Given the description of an element on the screen output the (x, y) to click on. 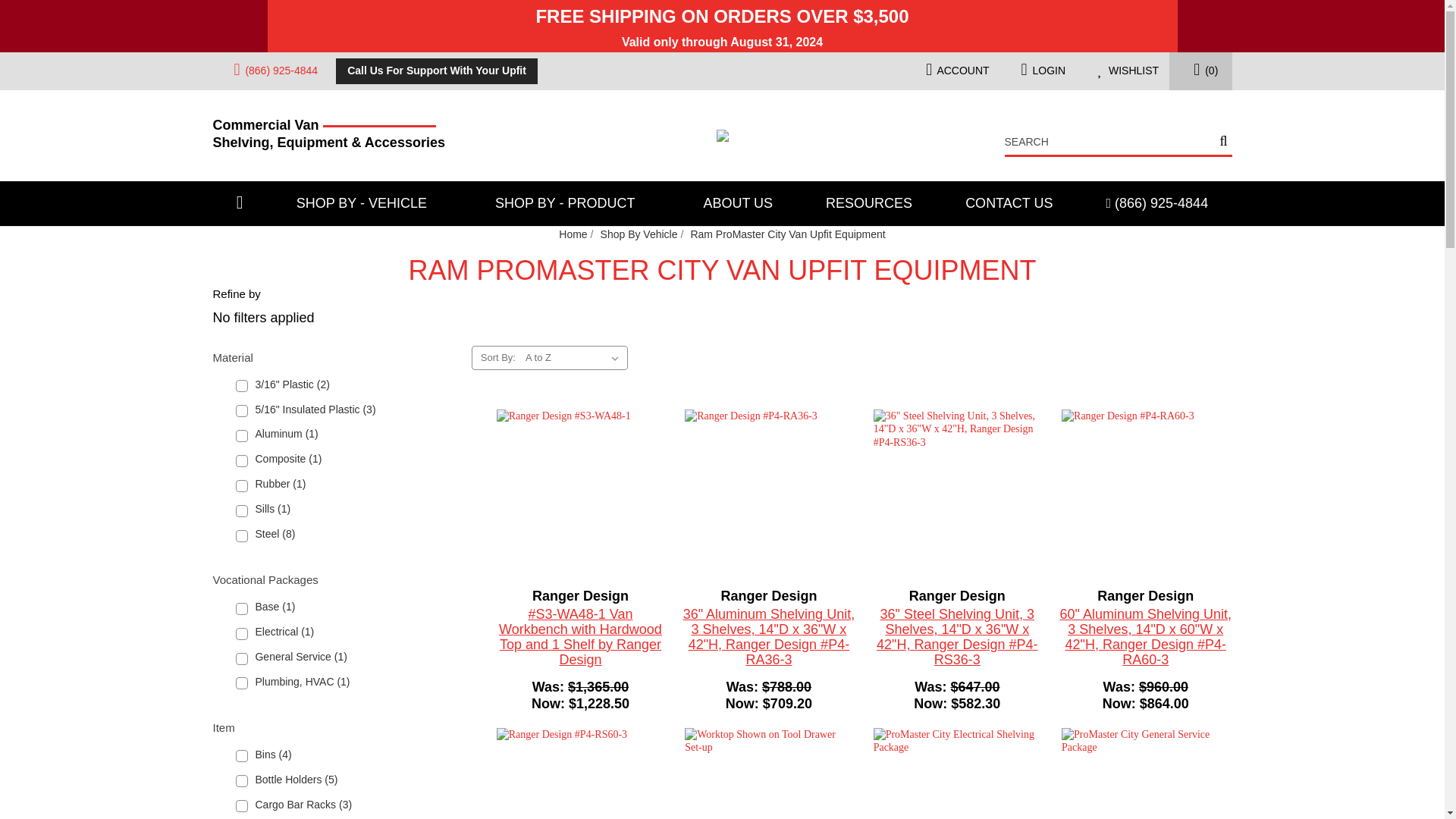
ProMaster City General Service Package (1144, 773)
Call Us For Support With Your Upfit (436, 71)
CONTACT US (1008, 203)
Ram ProMaster City Van Upfit Equipment (787, 233)
SHOP BY - VEHICLE (368, 203)
ABOUT US (738, 203)
Worktop Shown on Tool Drawer Set-up (767, 773)
SHOP BY - PRODUCT (572, 203)
WISHLIST (1122, 71)
Advantage Outfitters (722, 135)
RESOURCES (869, 203)
ACCOUNT (951, 71)
Shop By Vehicle (638, 233)
ProMaster City Electrical Shelving Package (957, 773)
Home (572, 233)
